Given the description of an element on the screen output the (x, y) to click on. 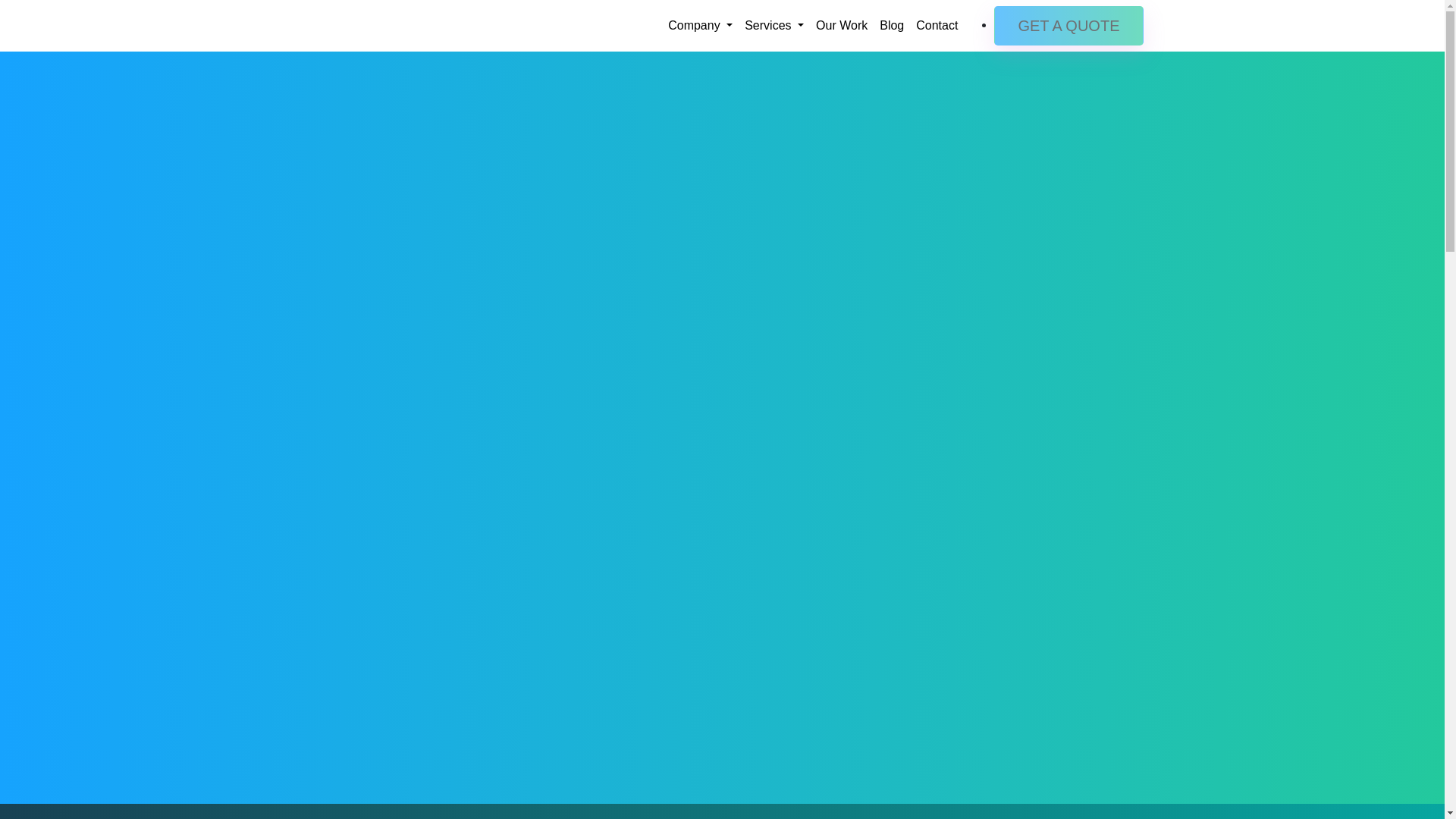
Our Work (841, 25)
Blog (891, 25)
Contact (936, 25)
Company (700, 25)
Services (773, 25)
